Given the description of an element on the screen output the (x, y) to click on. 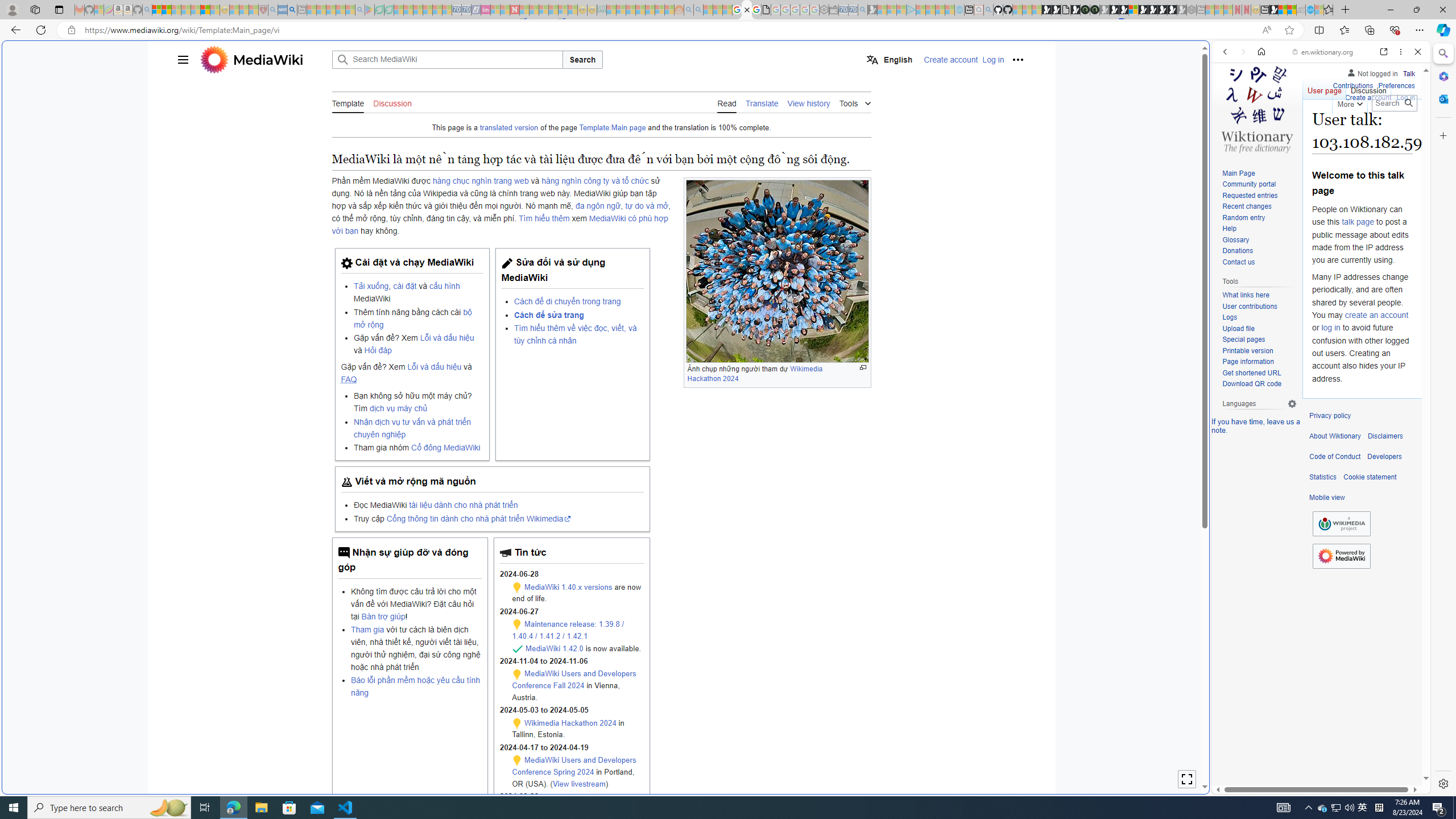
Get shortened URL (1251, 372)
Code of Conduct (1334, 456)
User page (1324, 87)
English (889, 59)
Donations (1259, 251)
